Given the description of an element on the screen output the (x, y) to click on. 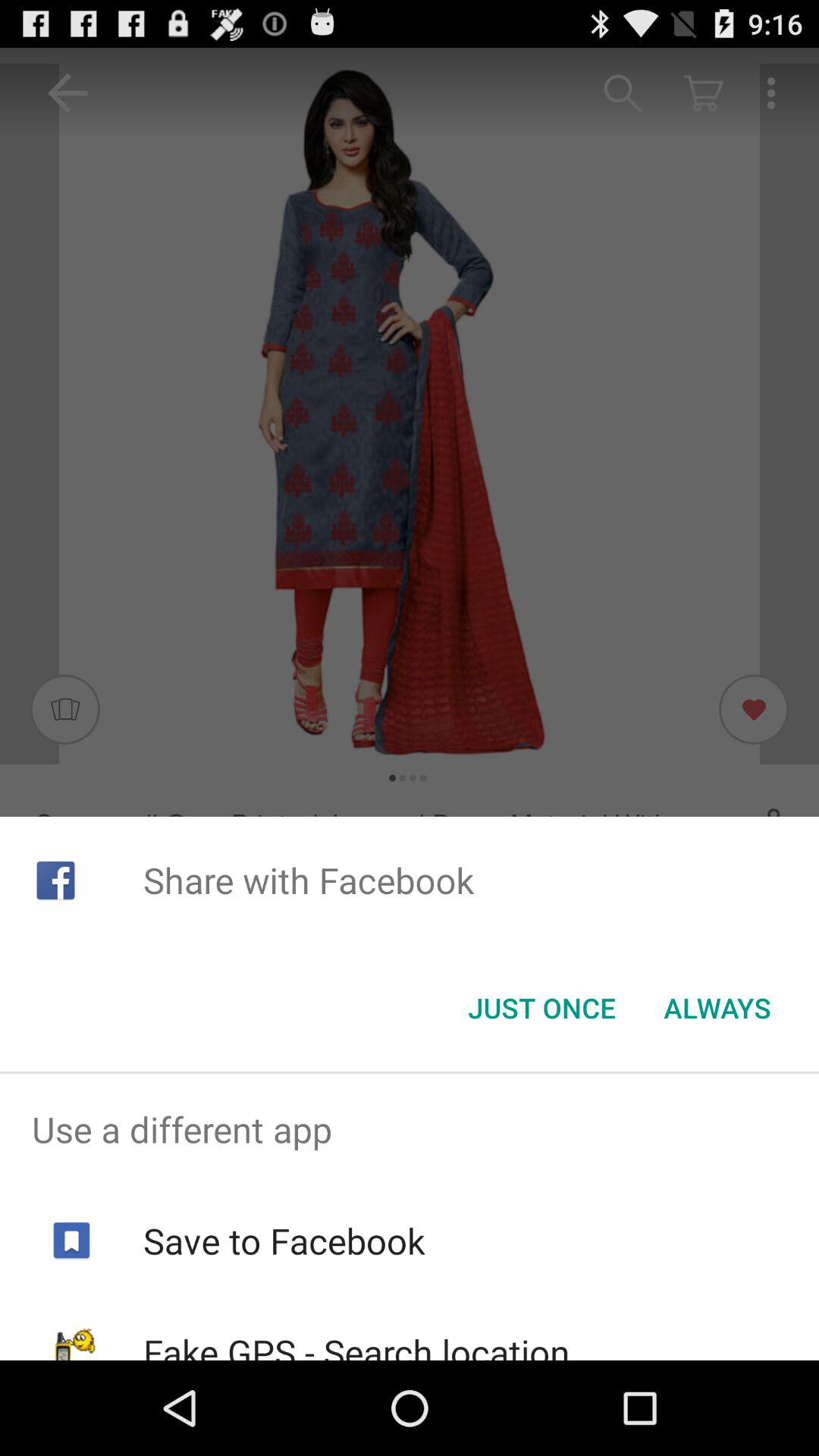
open icon below use a different app (284, 1240)
